Given the description of an element on the screen output the (x, y) to click on. 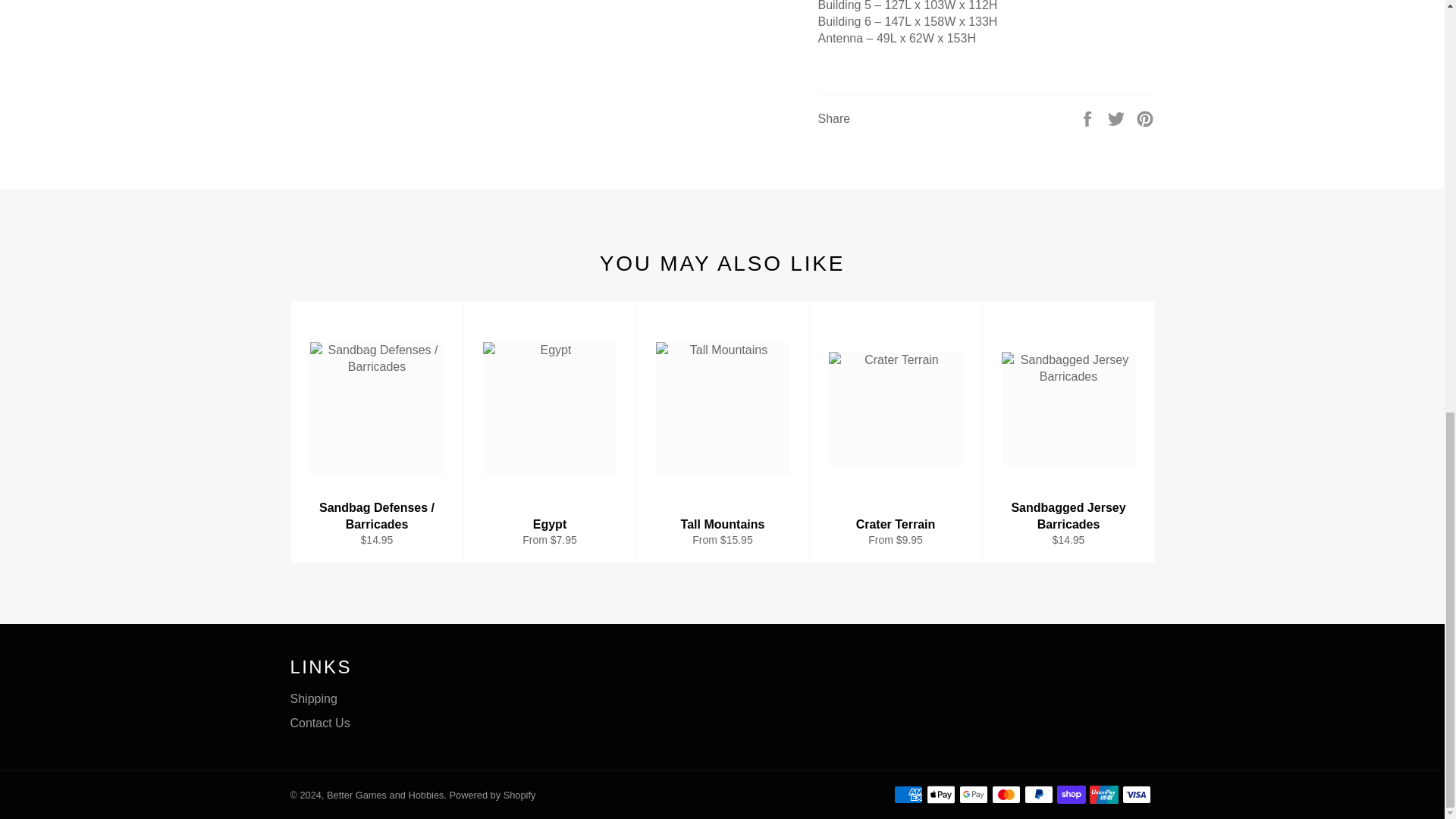
Pin on Pinterest (1144, 117)
Tweet on Twitter (1117, 117)
Share on Facebook (1088, 117)
